Given the description of an element on the screen output the (x, y) to click on. 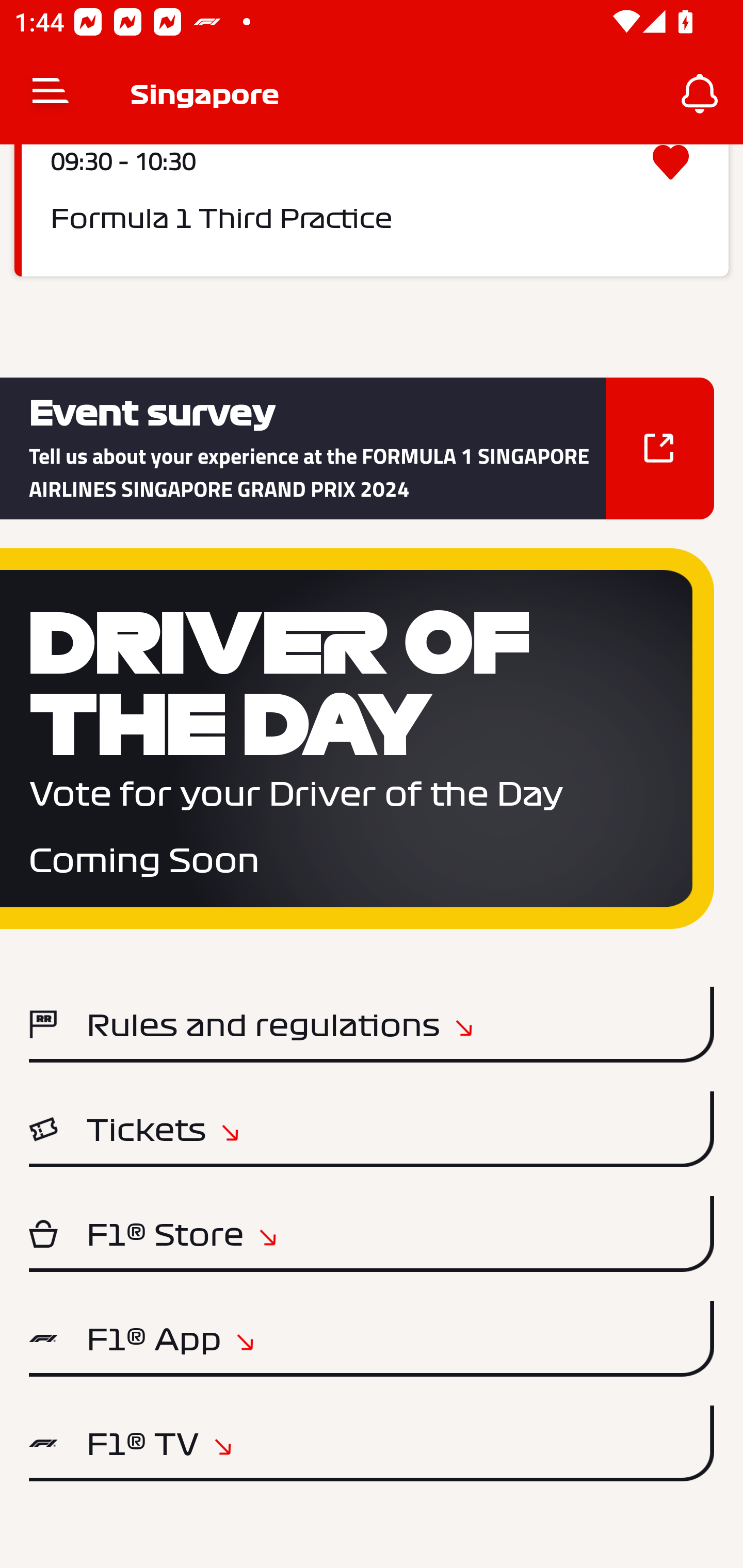
Navigate up (50, 93)
Notifications (699, 93)
09:30 - 10:30 Formula 1 Third Practice (371, 209)
Rules and regulations (371, 1024)
Tickets (371, 1128)
F1® Store (371, 1233)
F1® App (371, 1338)
F1® TV (371, 1442)
